Given the description of an element on the screen output the (x, y) to click on. 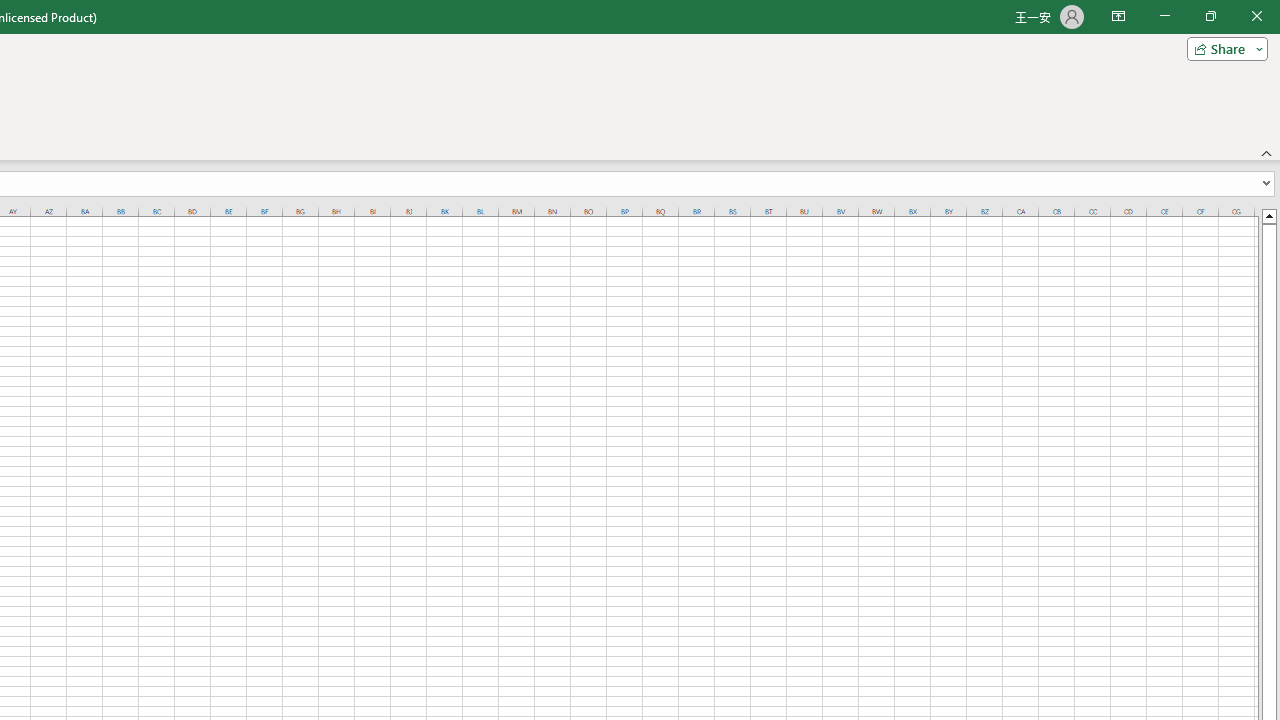
Close (1256, 16)
Minimize (1164, 16)
Collapse the Ribbon (1267, 152)
Share (1223, 48)
Ribbon Display Options (1118, 16)
Line up (1268, 215)
Restore Down (1210, 16)
